Given the description of an element on the screen output the (x, y) to click on. 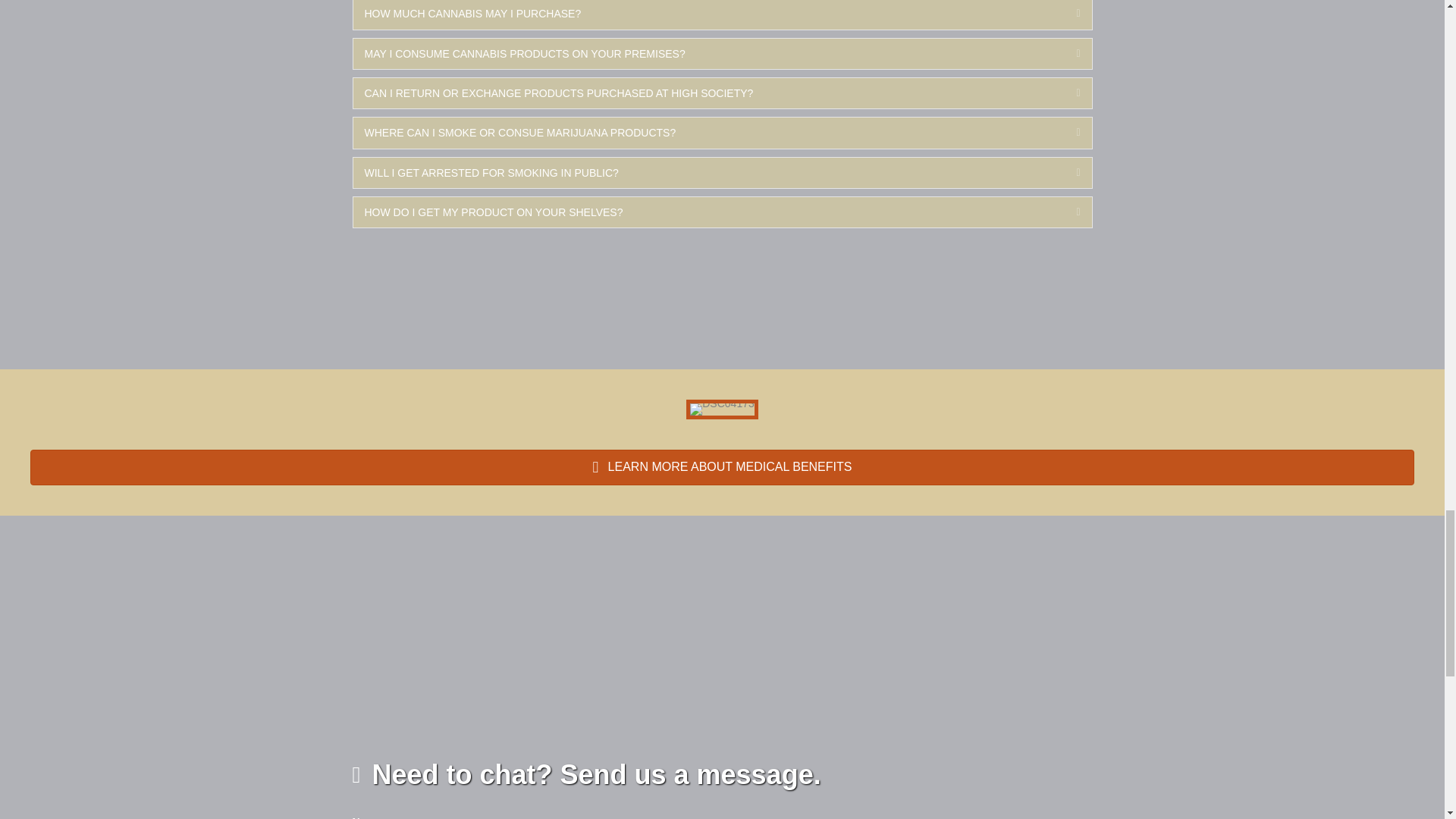
WHERE CAN I SMOKE OR CONSUE MARIJUANA PRODUCTS? (708, 132)
WILL I GET ARRESTED FOR SMOKING IN PUBLIC? (708, 172)
HOW MUCH CANNABIS MAY I PURCHASE? (708, 13)
Expand (1066, 53)
MAY I CONSUME CANNABIS PRODUCTS ON YOUR PREMISES? (708, 53)
Expand (1066, 13)
DSC04173 (721, 409)
Expand (1066, 132)
Expand (1066, 92)
Expand (1066, 172)
CAN I RETURN OR EXCHANGE PRODUCTS PURCHASED AT HIGH SOCIETY? (708, 92)
